Given the description of an element on the screen output the (x, y) to click on. 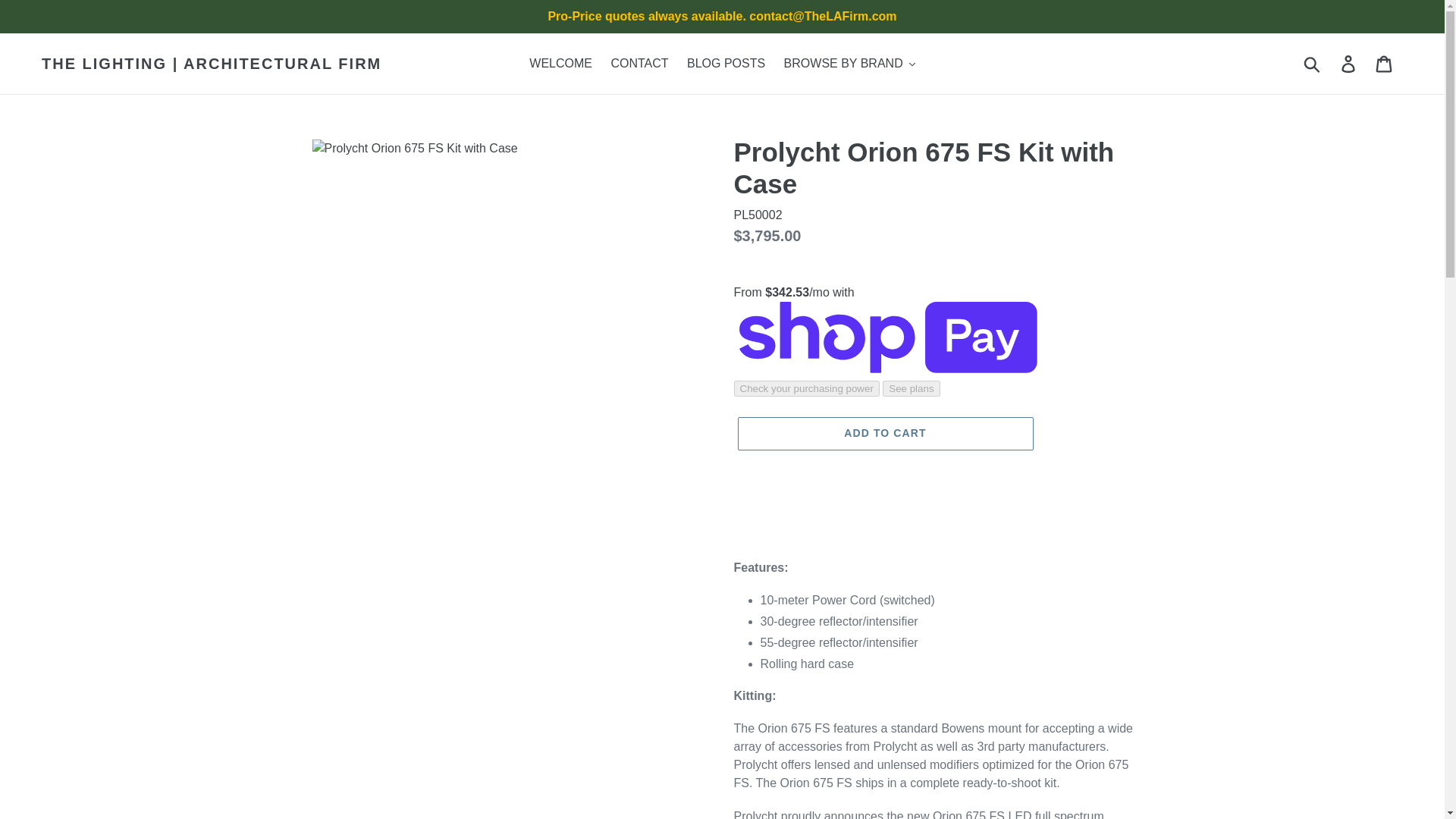
WELCOME (560, 63)
BLOG POSTS (726, 63)
CONTACT (638, 63)
